Given the description of an element on the screen output the (x, y) to click on. 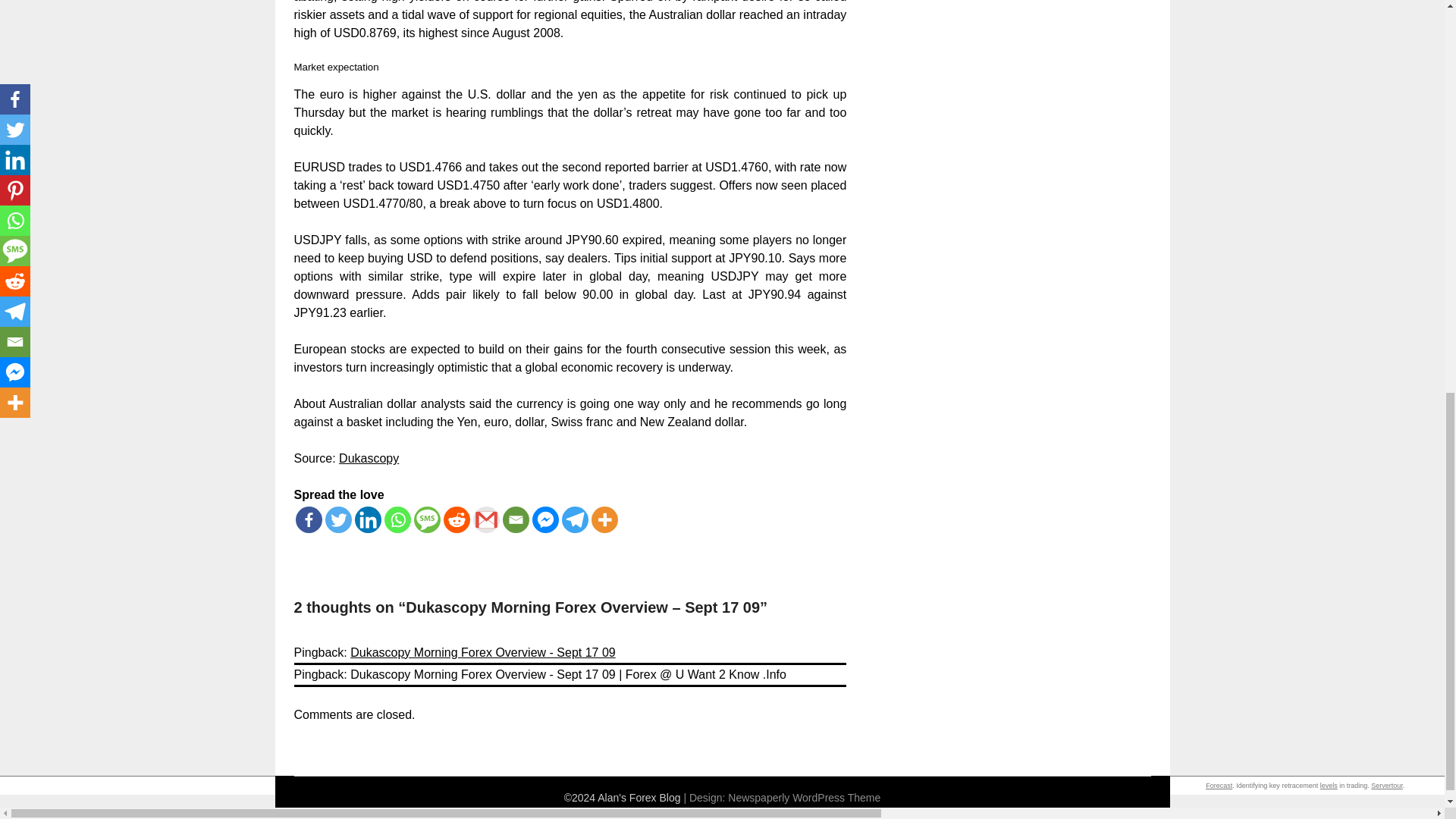
Facebook (308, 519)
Dukascopy (368, 458)
Dukascopy Morning Forex Overview - Sept 17 09 (482, 652)
Reddit (455, 519)
SMS (427, 519)
Linkedin (368, 519)
Newspaperly WordPress Theme (804, 797)
Whatsapp (397, 519)
Email (515, 519)
More (604, 519)
Google Gmail (486, 519)
Telegram (574, 519)
Twitter (337, 519)
